Given the description of an element on the screen output the (x, y) to click on. 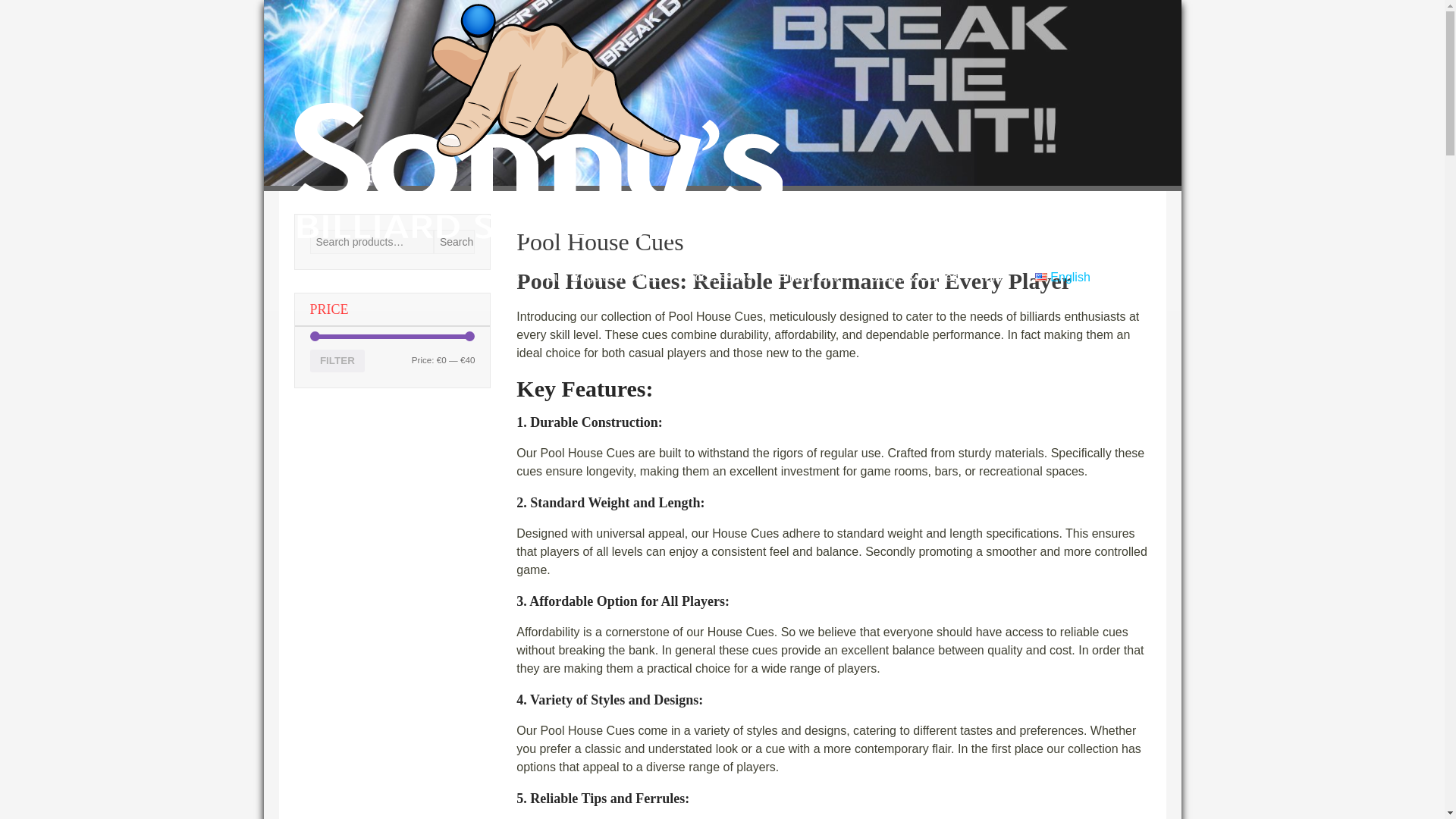
Accessories (718, 277)
Billiard Gifts (810, 277)
Cue Bags and Cases (602, 277)
